Given the description of an element on the screen output the (x, y) to click on. 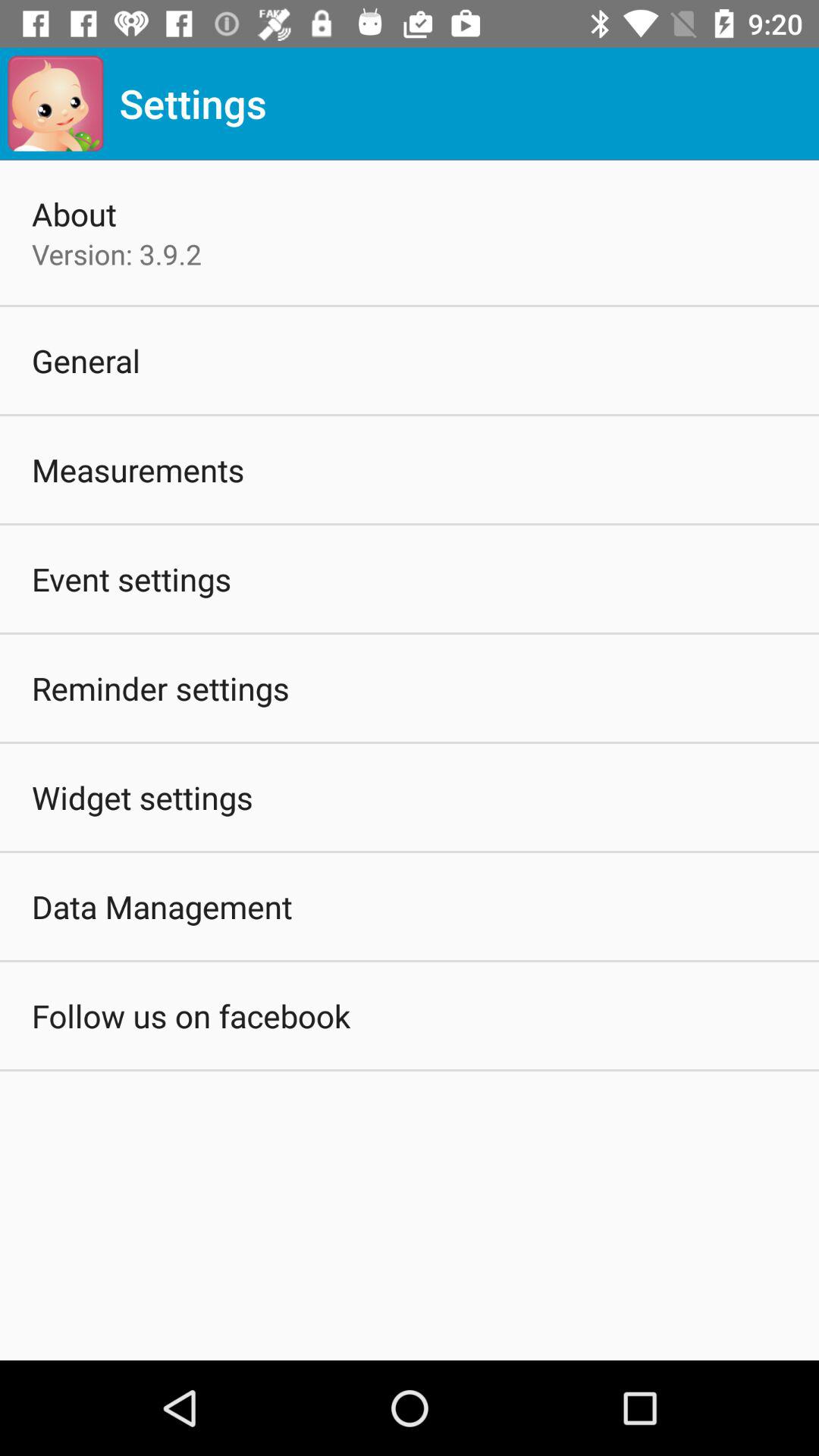
click app to the left of the settings (55, 103)
